Given the description of an element on the screen output the (x, y) to click on. 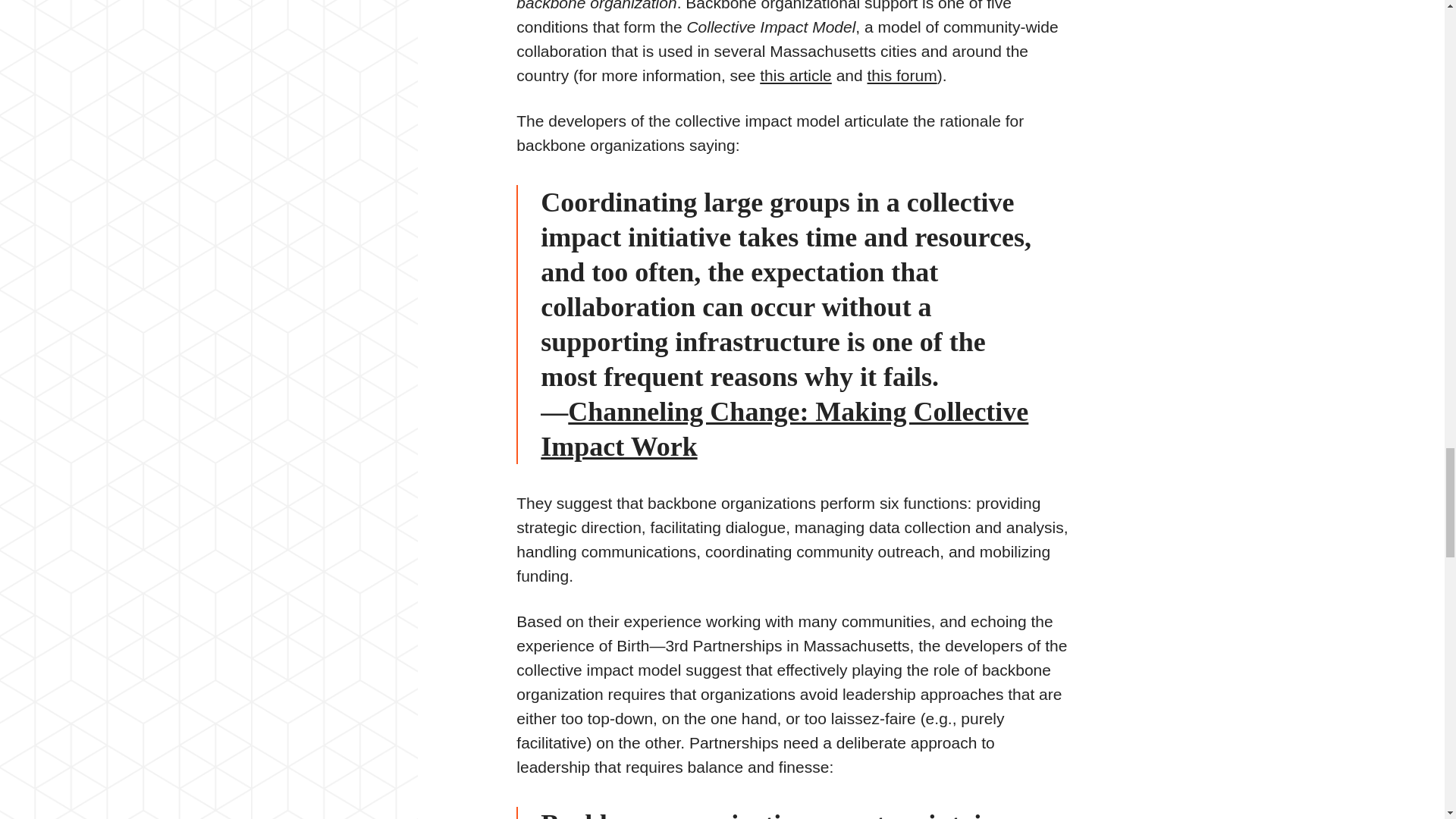
this forum (902, 75)
Channeling Change: Making Collective Impact Work (783, 428)
this article (795, 75)
